Given the description of an element on the screen output the (x, y) to click on. 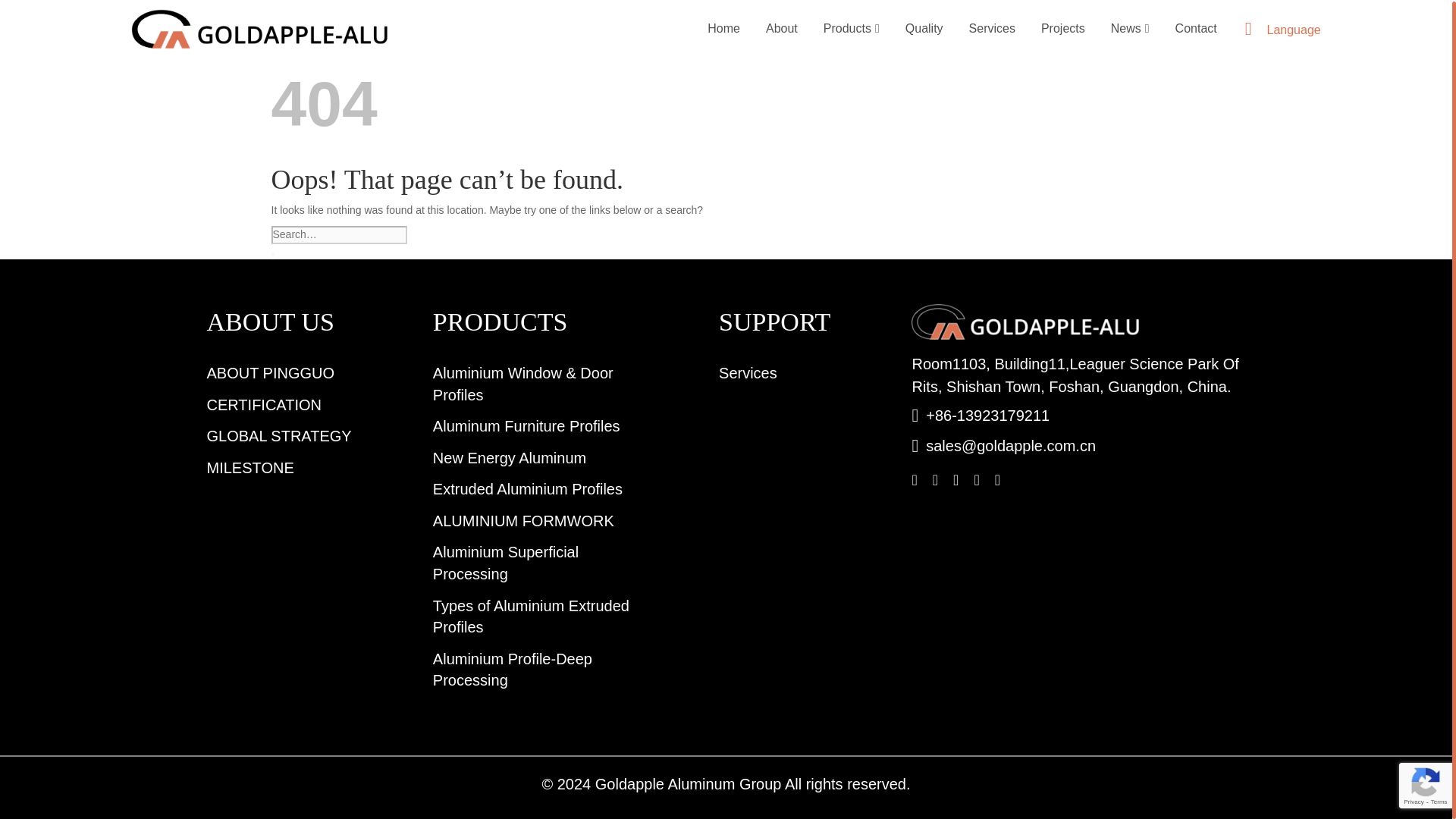
About (781, 29)
Contact (1195, 29)
Home (723, 29)
Quality (924, 29)
MILESTONE (250, 467)
ABOUT PINGGUO (270, 372)
CERTIFICATION (263, 404)
Services (991, 29)
Projects (1062, 29)
GLOBAL STRATEGY (278, 435)
ABOUT PINGGUO (270, 372)
Services (748, 372)
CERTIFICATION (263, 404)
